Given the description of an element on the screen output the (x, y) to click on. 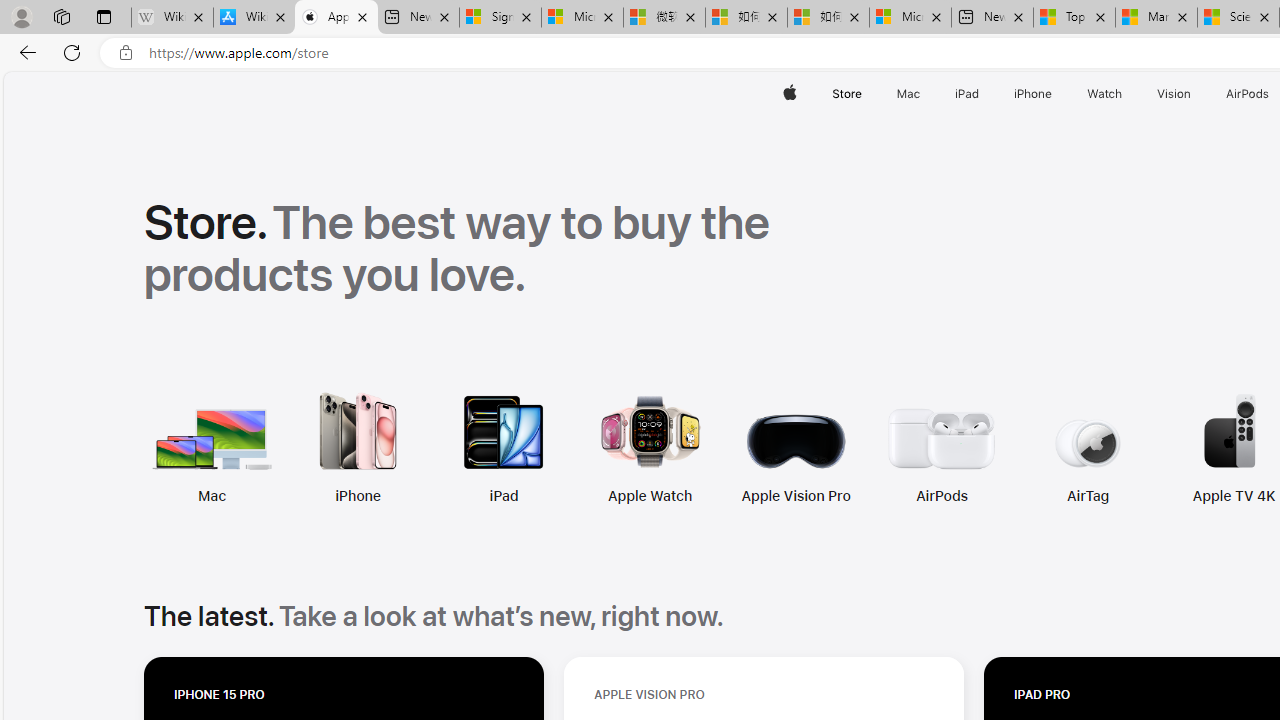
iPhone menu (1055, 93)
iPhone (222, 447)
AirPods (941, 496)
Marine life - MSN (1156, 17)
Class: globalnav-submenu-trigger-item (1195, 93)
Store (846, 93)
Mac (76, 447)
AirTag (1087, 496)
Store menu (864, 93)
iPad (504, 496)
